Given the description of an element on the screen output the (x, y) to click on. 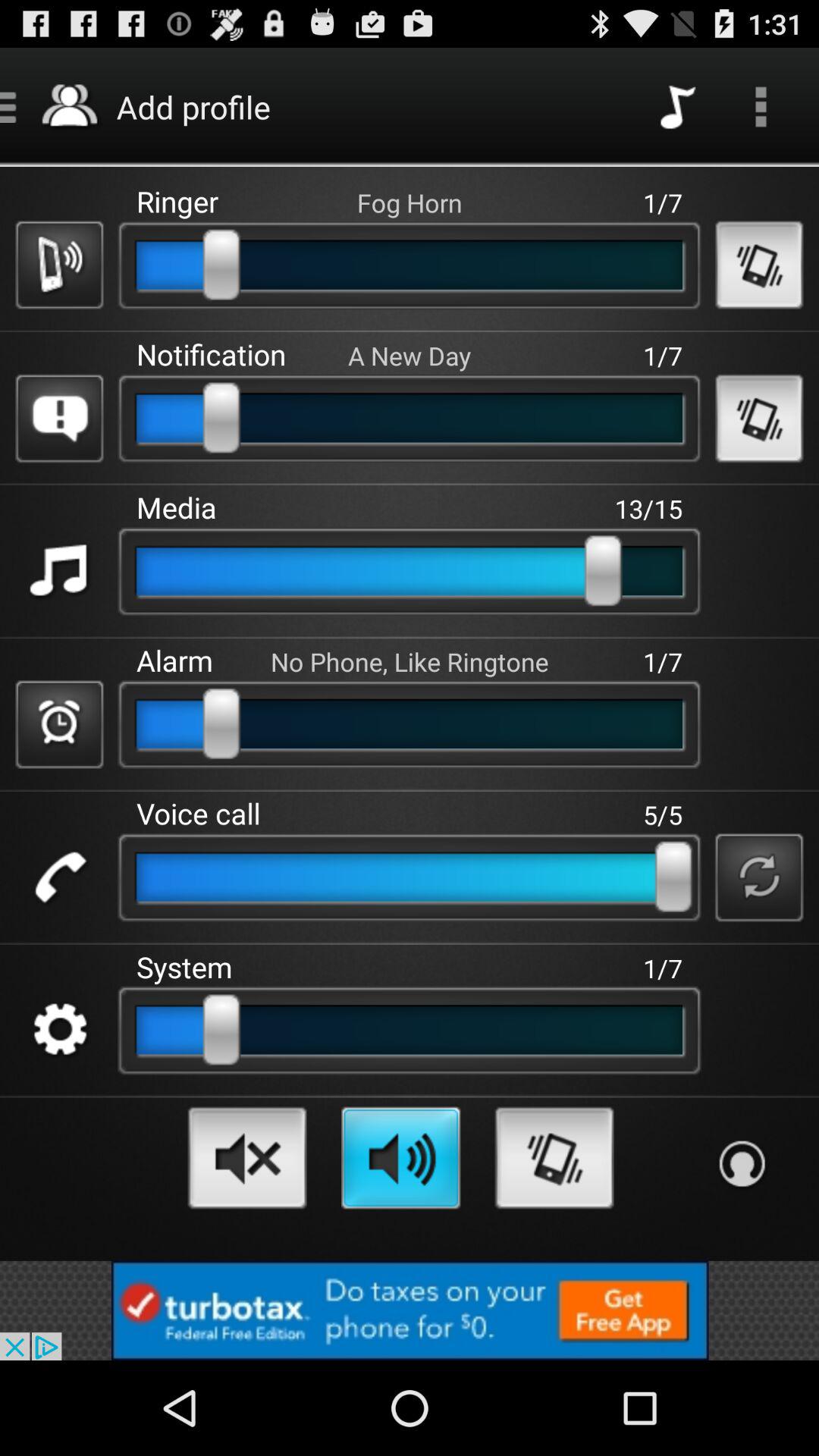
go to back (758, 264)
